Given the description of an element on the screen output the (x, y) to click on. 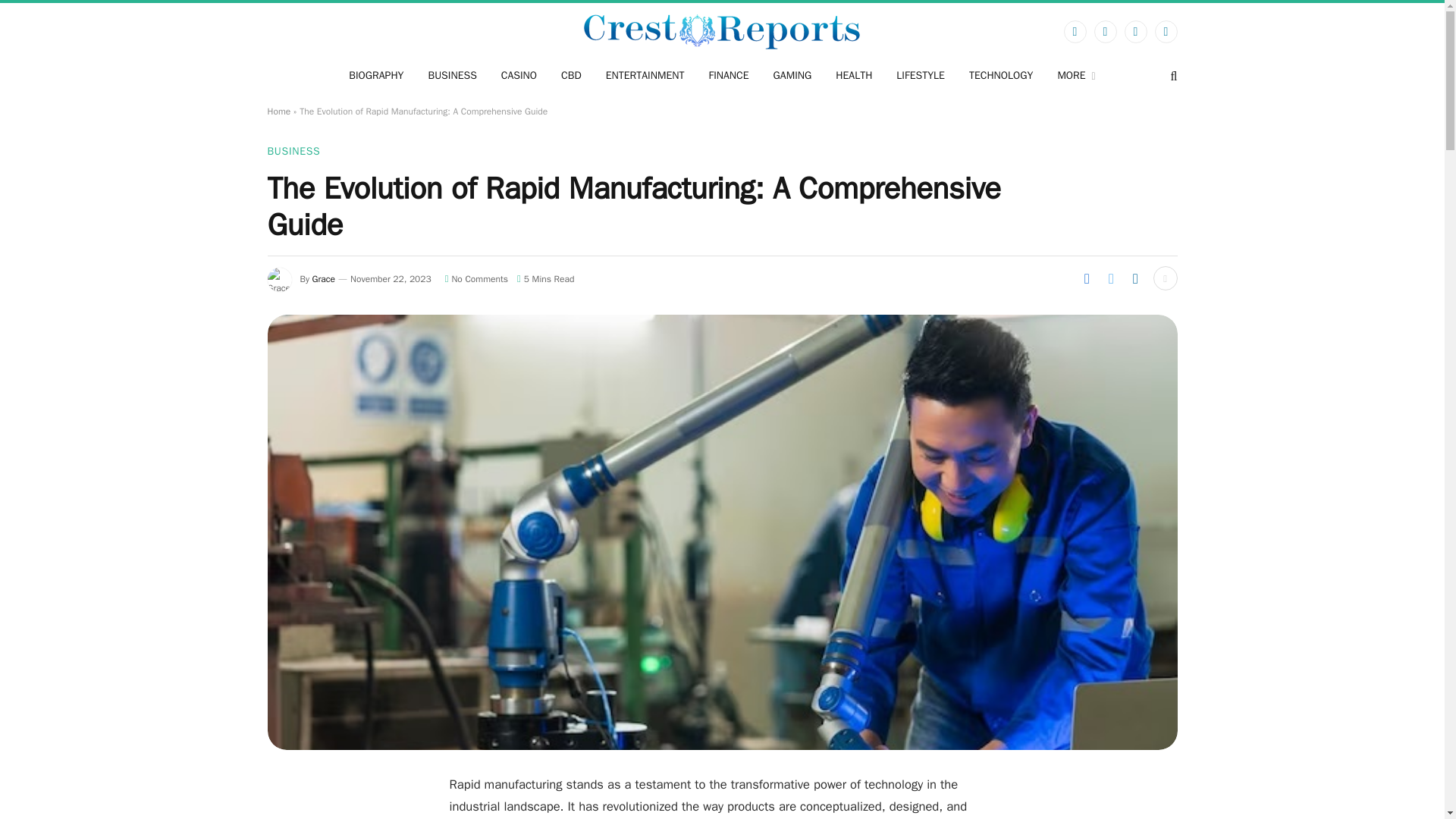
Instagram (1135, 31)
GAMING (792, 75)
LinkedIn (1165, 31)
HEALTH (853, 75)
No Comments (476, 278)
MORE (1075, 75)
Show More Social Sharing (1164, 278)
CASINO (518, 75)
FINANCE (727, 75)
Facebook (1074, 31)
BUSINESS (450, 75)
BIOGRAPHY (375, 75)
Grace (323, 278)
TECHNOLOGY (1000, 75)
